Given the description of an element on the screen output the (x, y) to click on. 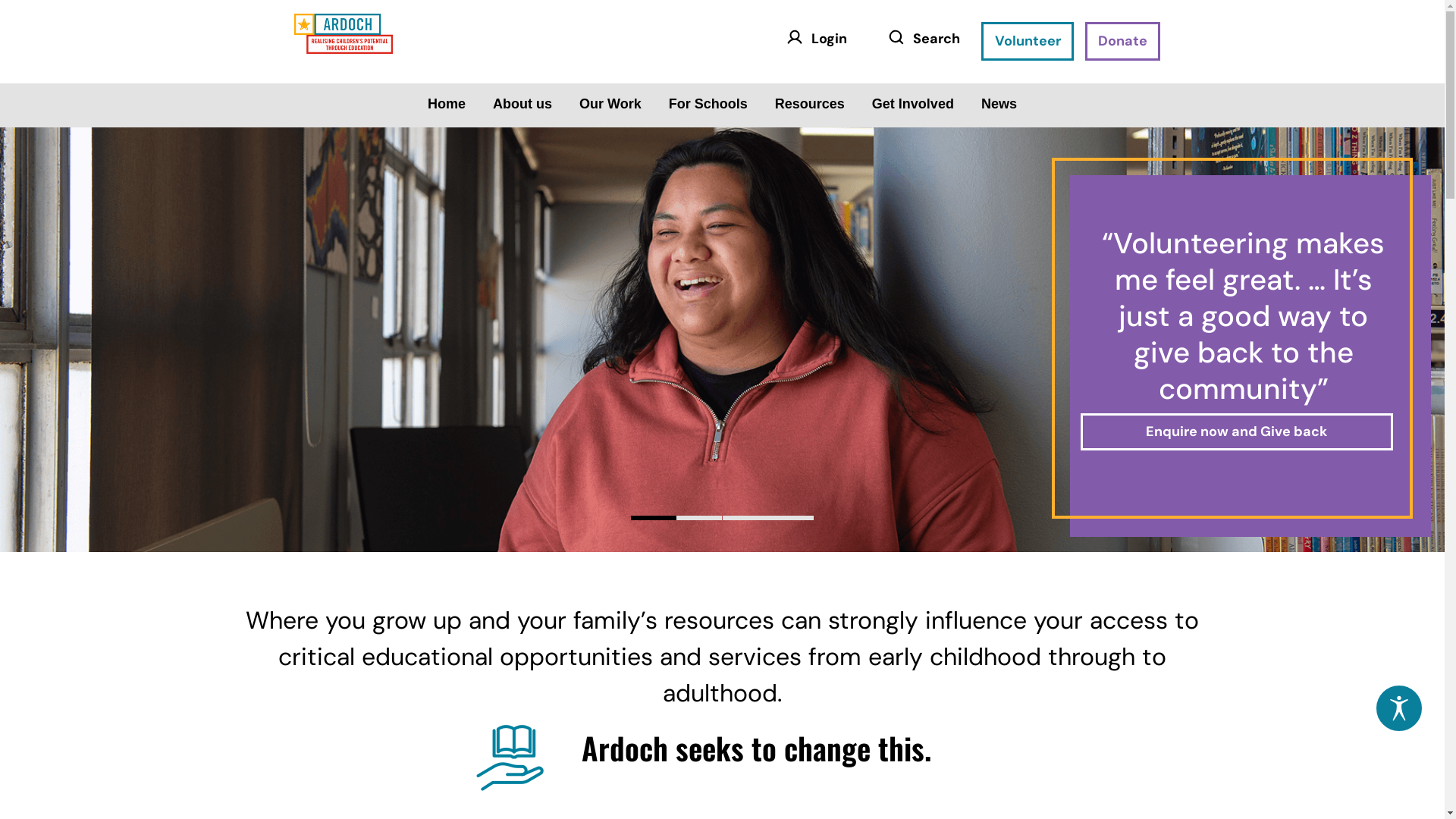
Slide of Element type: text (653, 517)
Resources Element type: text (809, 103)
Donate Element type: text (1123, 40)
For Schools Element type: text (707, 103)
About us Element type: text (522, 103)
Get Involved Element type: text (912, 103)
Home Element type: text (446, 103)
Enquire Now to feel rewarded Element type: text (1236, 431)
Login Element type: text (812, 40)
News Element type: text (998, 103)
Slide of Element type: text (745, 517)
Search Element type: text (919, 40)
Slide of Element type: text (698, 517)
Slide of Element type: text (790, 517)
Enquire now and join the fun Element type: text (1236, 395)
Volunteer Element type: text (1027, 40)
Our Work Element type: text (610, 103)
